Given the description of an element on the screen output the (x, y) to click on. 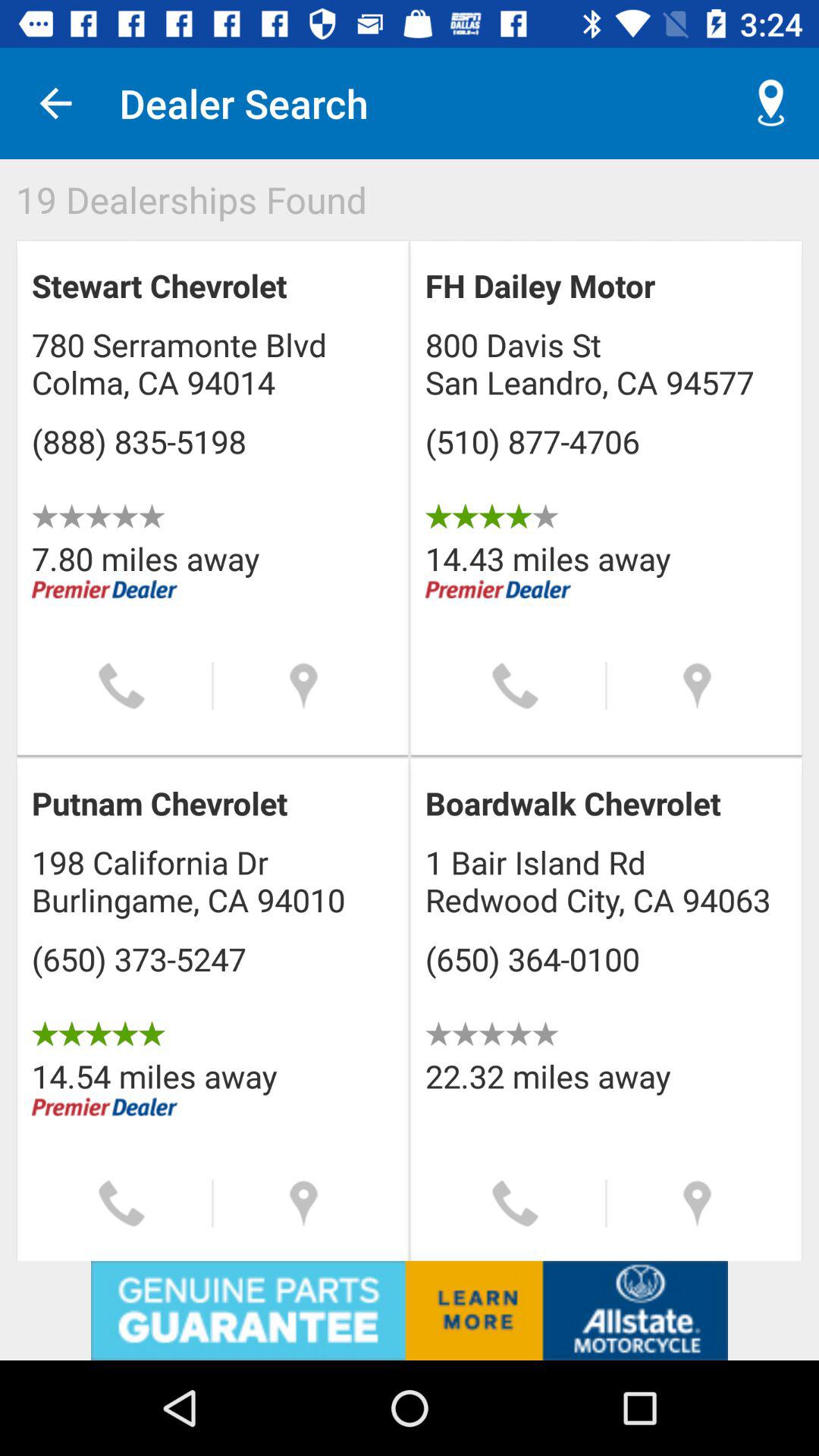
select call logo (515, 1203)
